Given the description of an element on the screen output the (x, y) to click on. 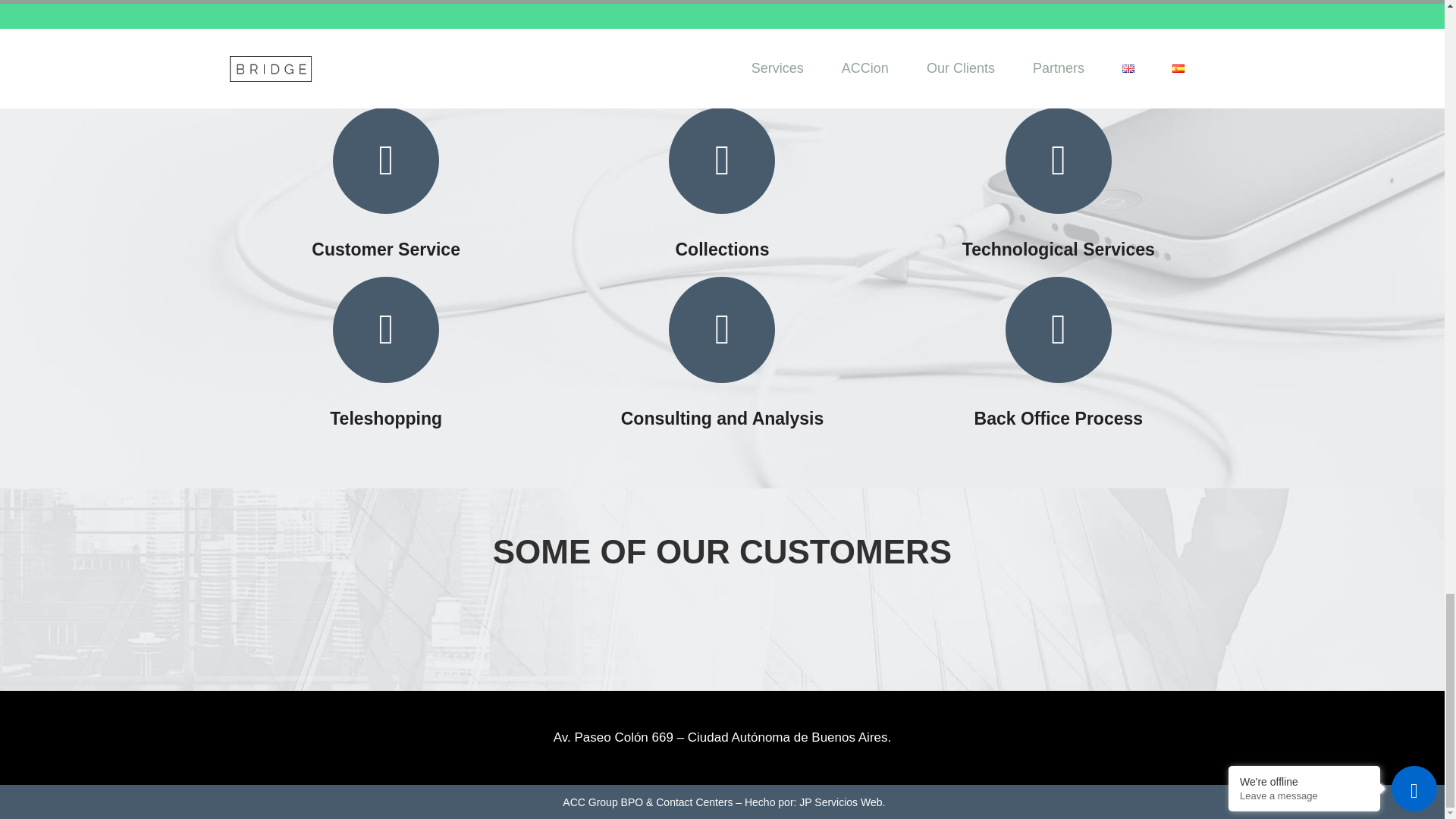
Collections (721, 249)
Teleshopping (386, 417)
Customer Service (385, 249)
Back Office Process (1058, 417)
Technological Services (1058, 249)
Consulting and Analysis (722, 417)
JP Servicios Web. (842, 802)
